Given the description of an element on the screen output the (x, y) to click on. 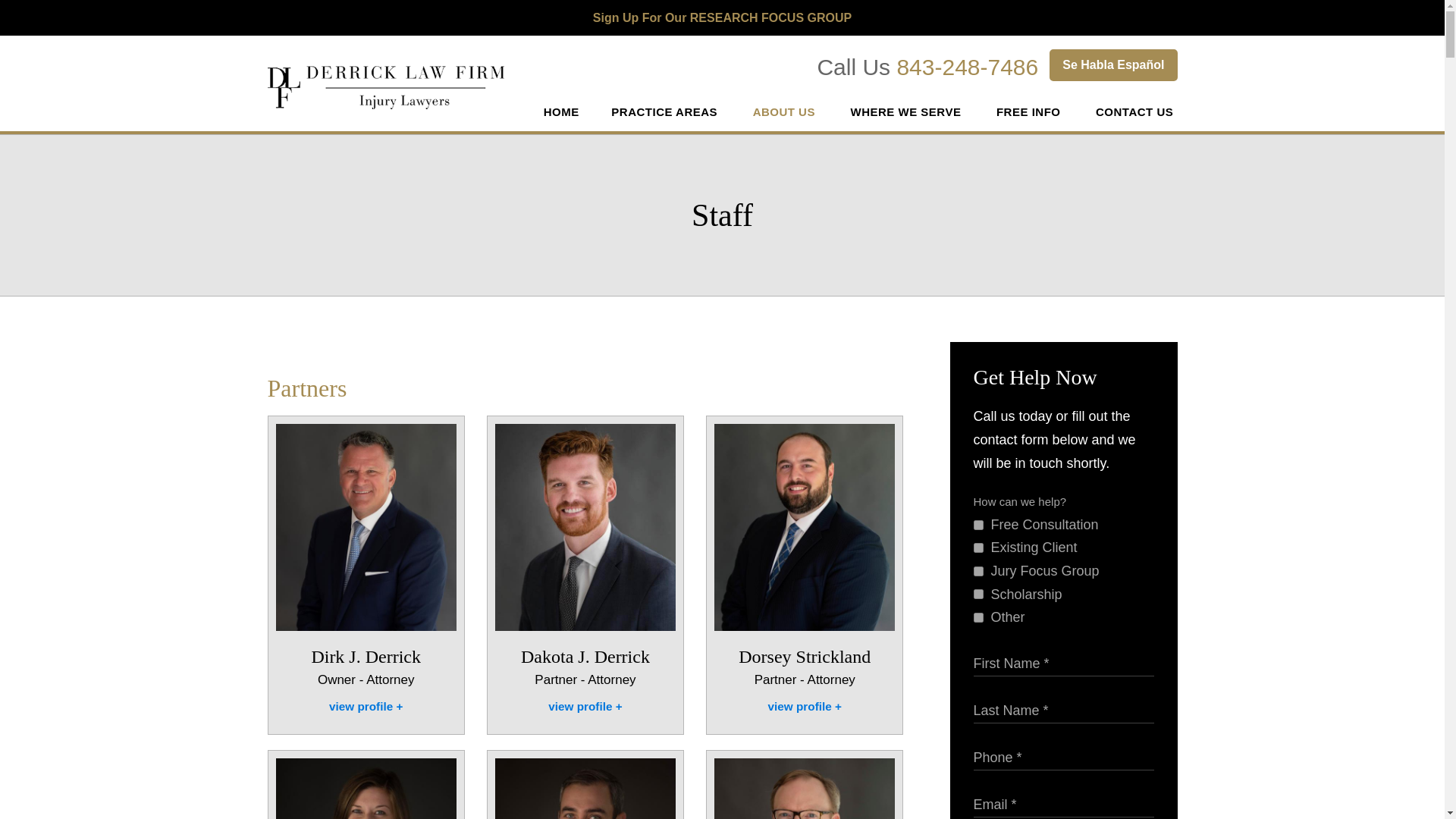
WHERE WE SERVE (906, 112)
Free Consultation (979, 524)
HOME (561, 112)
ABOUT US (785, 112)
843-248-7486 (967, 66)
PRACTICE AREAS (665, 112)
Scholarship (979, 593)
Existing Client (979, 547)
Jury Focus Group (979, 571)
Other (979, 617)
